Given the description of an element on the screen output the (x, y) to click on. 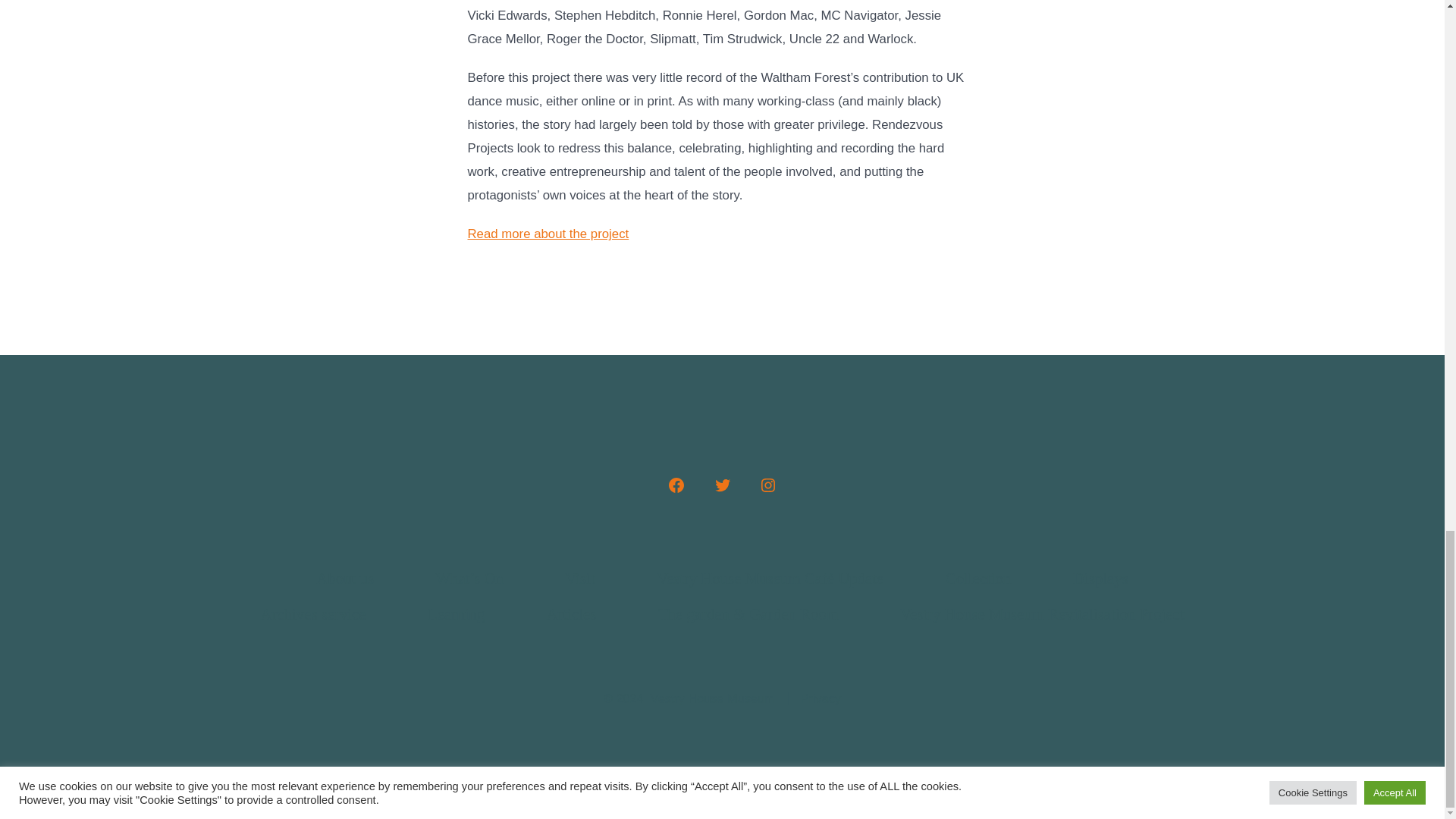
Open Twitter in a new tab (721, 485)
Open Instagram in a new tab (767, 485)
Archives service (312, 614)
About us (344, 579)
Articles (571, 614)
Learning (455, 614)
Visit (579, 579)
Read more about the project (547, 233)
Displays (1100, 579)
Open Facebook in a new tab (676, 485)
Collection (977, 579)
